Given the description of an element on the screen output the (x, y) to click on. 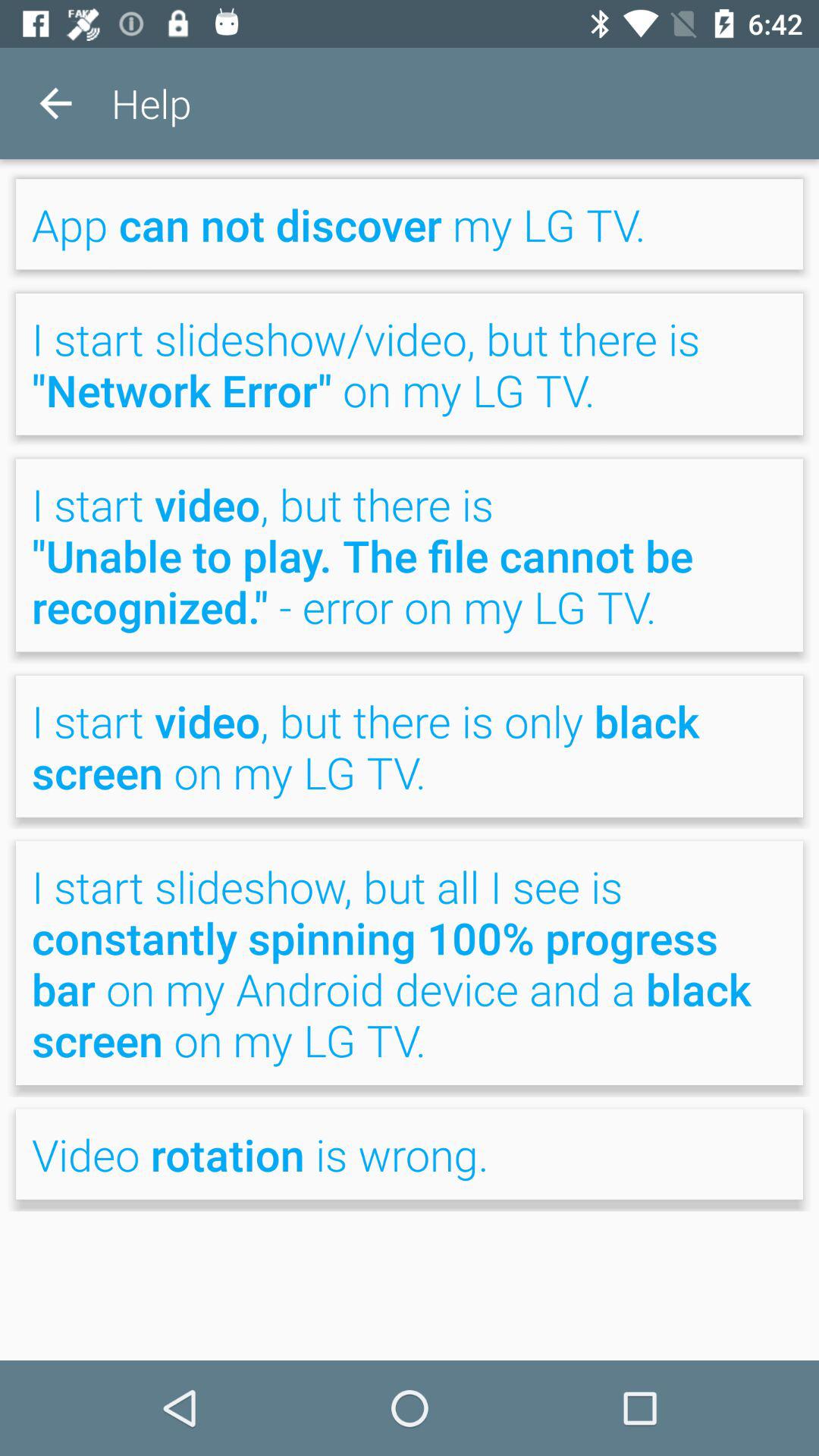
select the item above i start slideshow item (409, 224)
